Given the description of an element on the screen output the (x, y) to click on. 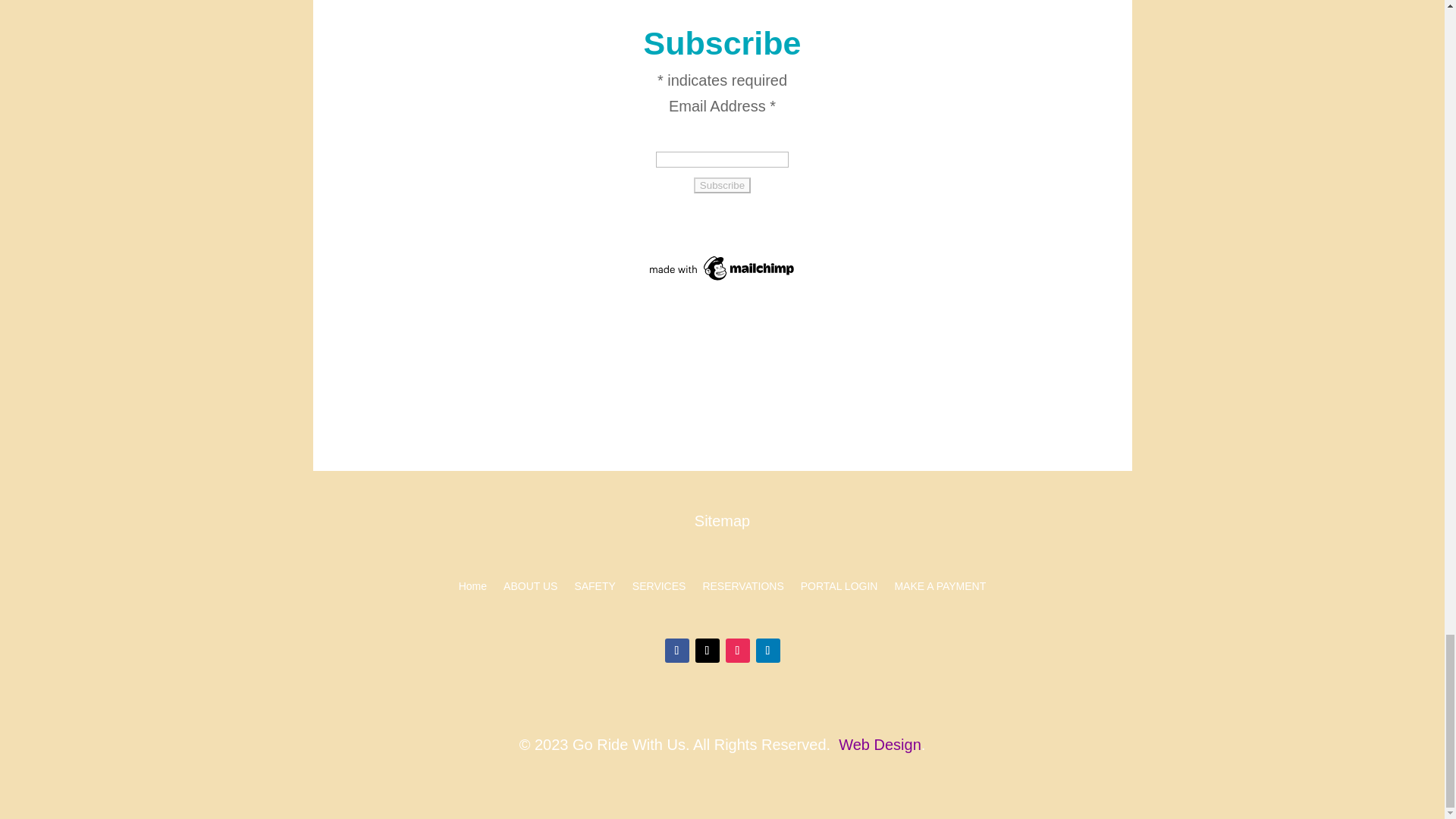
SAFETY (593, 588)
RESERVATIONS (742, 588)
MAKE A PAYMENT (939, 588)
Subscribe (722, 185)
PORTAL LOGIN (838, 588)
Subscribe (722, 185)
Home (472, 588)
Sitemap (721, 520)
Mailchimp - email marketing made easy and fun (722, 279)
ABOUT US (530, 588)
Follow on LinkedIn (766, 650)
Follow on Facebook (675, 650)
Follow on X (706, 650)
SERVICES (658, 588)
Follow on Instagram (737, 650)
